Given the description of an element on the screen output the (x, y) to click on. 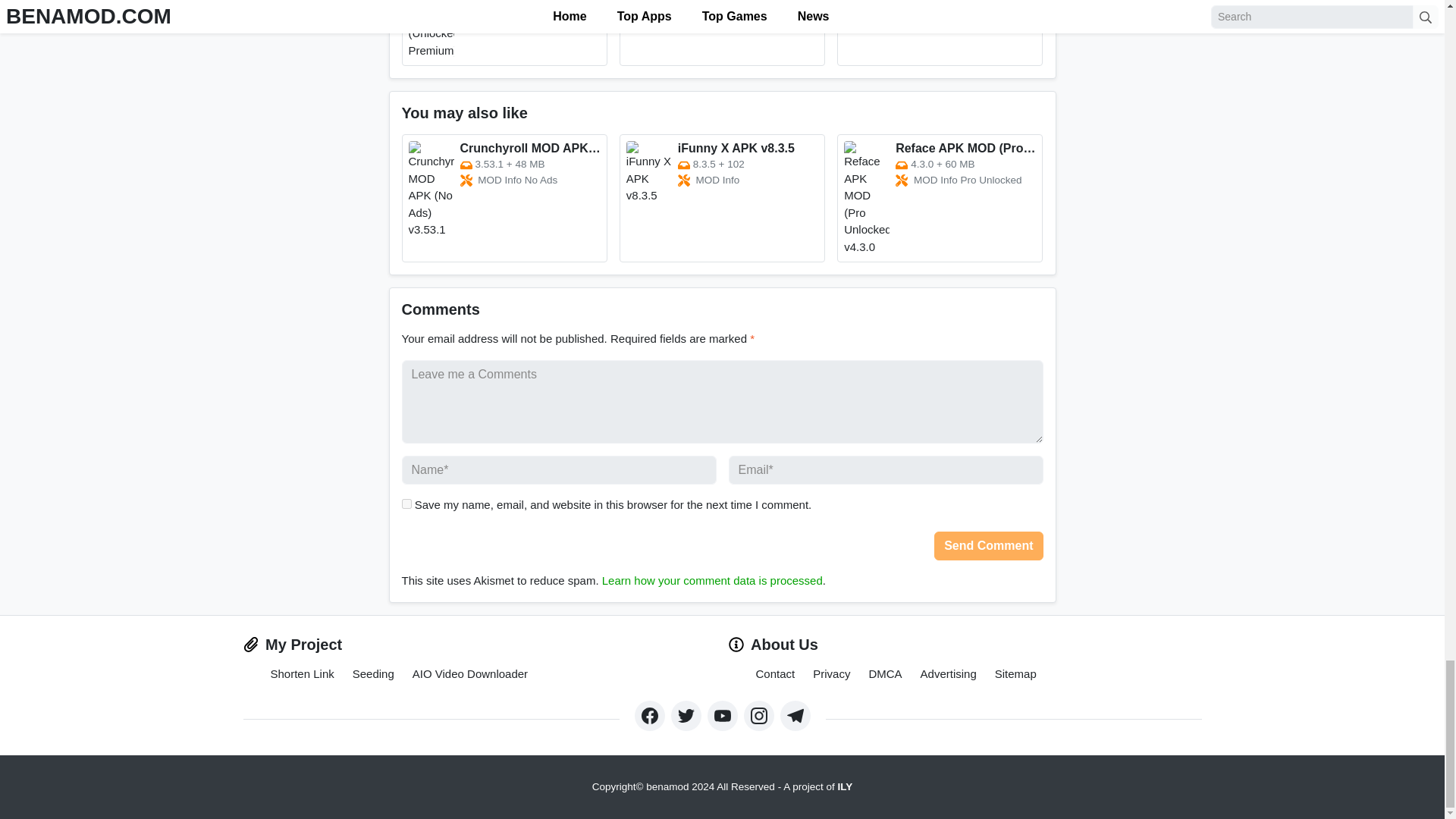
yes (406, 503)
Send Comment (988, 545)
Game Booster APK 4765-3r (722, 33)
YuppTV APK 7.13 (939, 33)
